Given the description of an element on the screen output the (x, y) to click on. 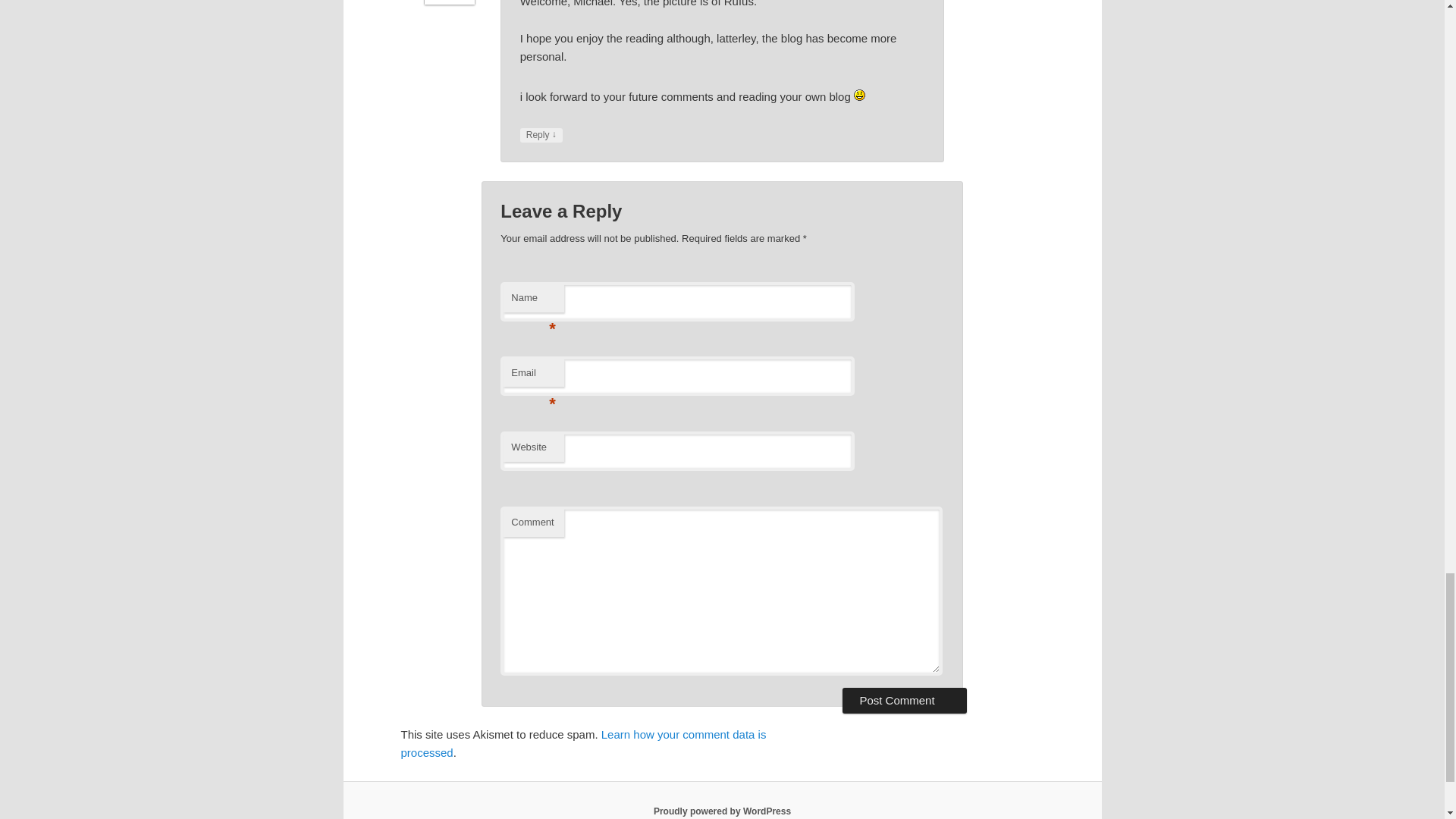
Semantic Personal Publishing Platform (721, 810)
Post Comment (904, 700)
Post Comment (904, 700)
